Given the description of an element on the screen output the (x, y) to click on. 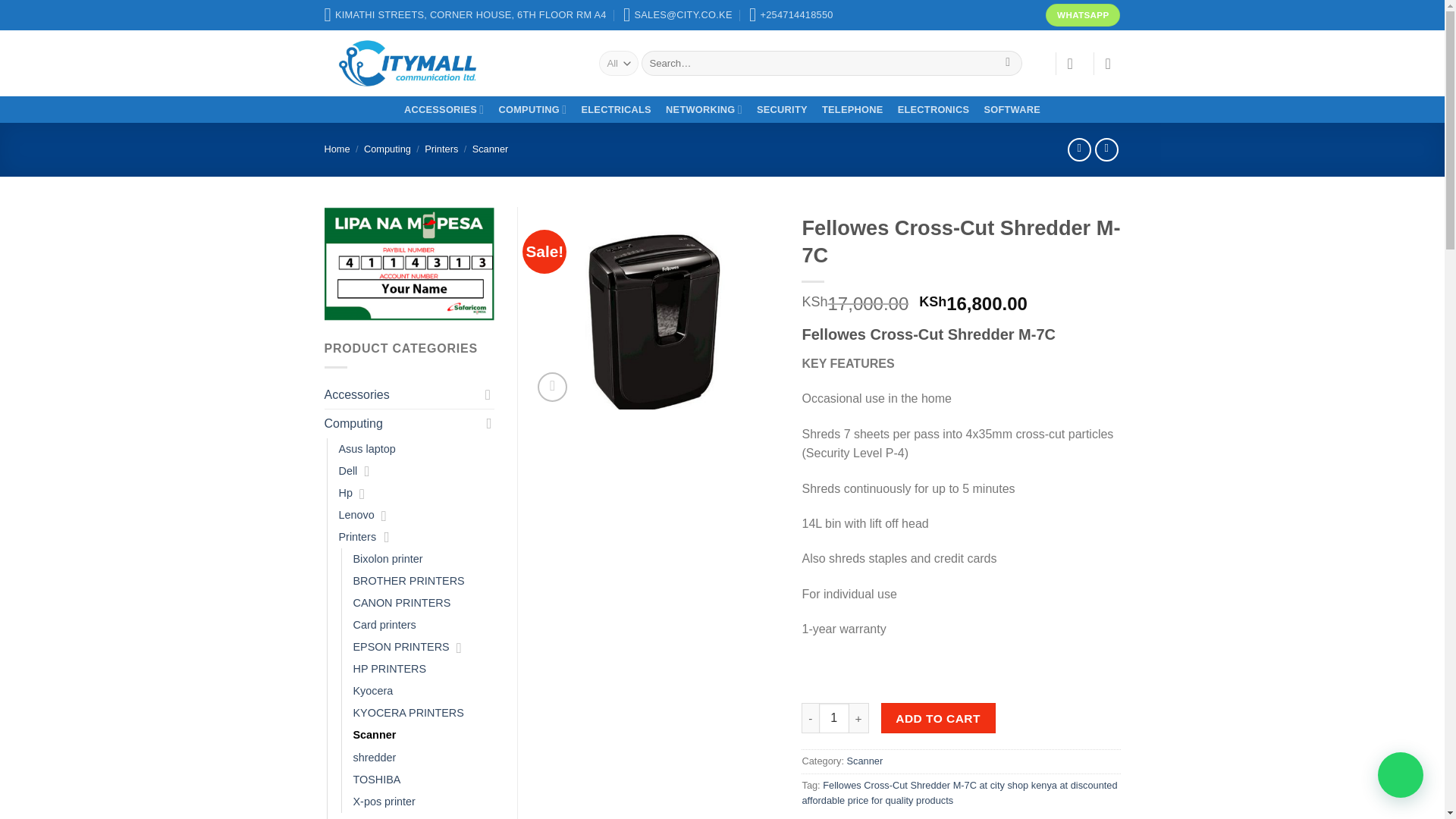
NETWORKING (703, 109)
Citymall Communication - Online Store Kenya (450, 63)
COMPUTING (532, 109)
Search (1007, 63)
ACCESSORIES (443, 109)
Kimathi Street, Corner House, 6th Floor RM A4 (465, 15)
KIMATHI STREETS, CORNER HOUSE, 6TH FLOOR RM A4 (465, 15)
WHATSAPP (1082, 15)
Zoom (552, 387)
ELECTRICALS (616, 109)
1 (833, 717)
